Given the description of an element on the screen output the (x, y) to click on. 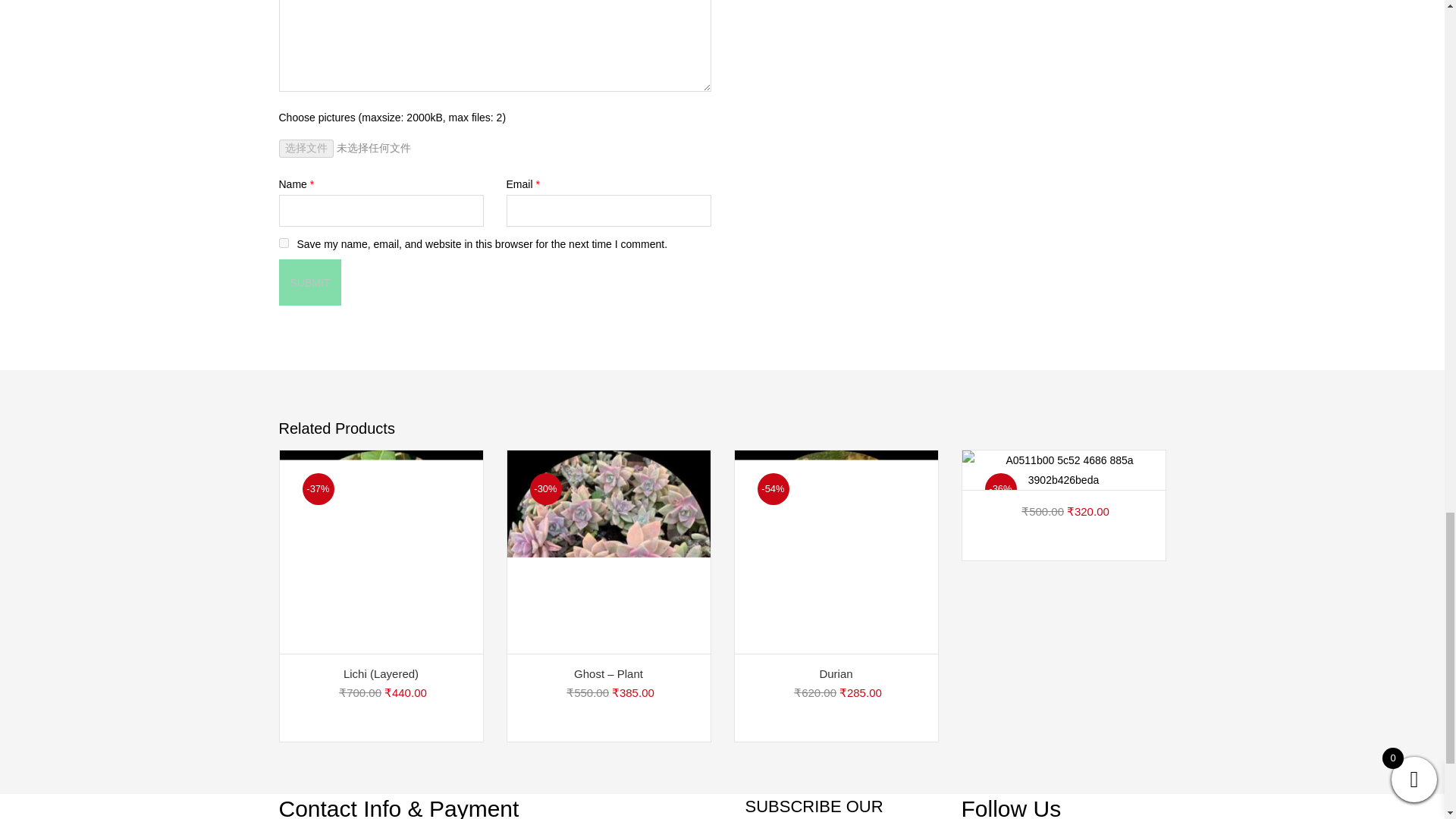
Durian (835, 551)
Submit (310, 282)
yes (283, 243)
